Given the description of an element on the screen output the (x, y) to click on. 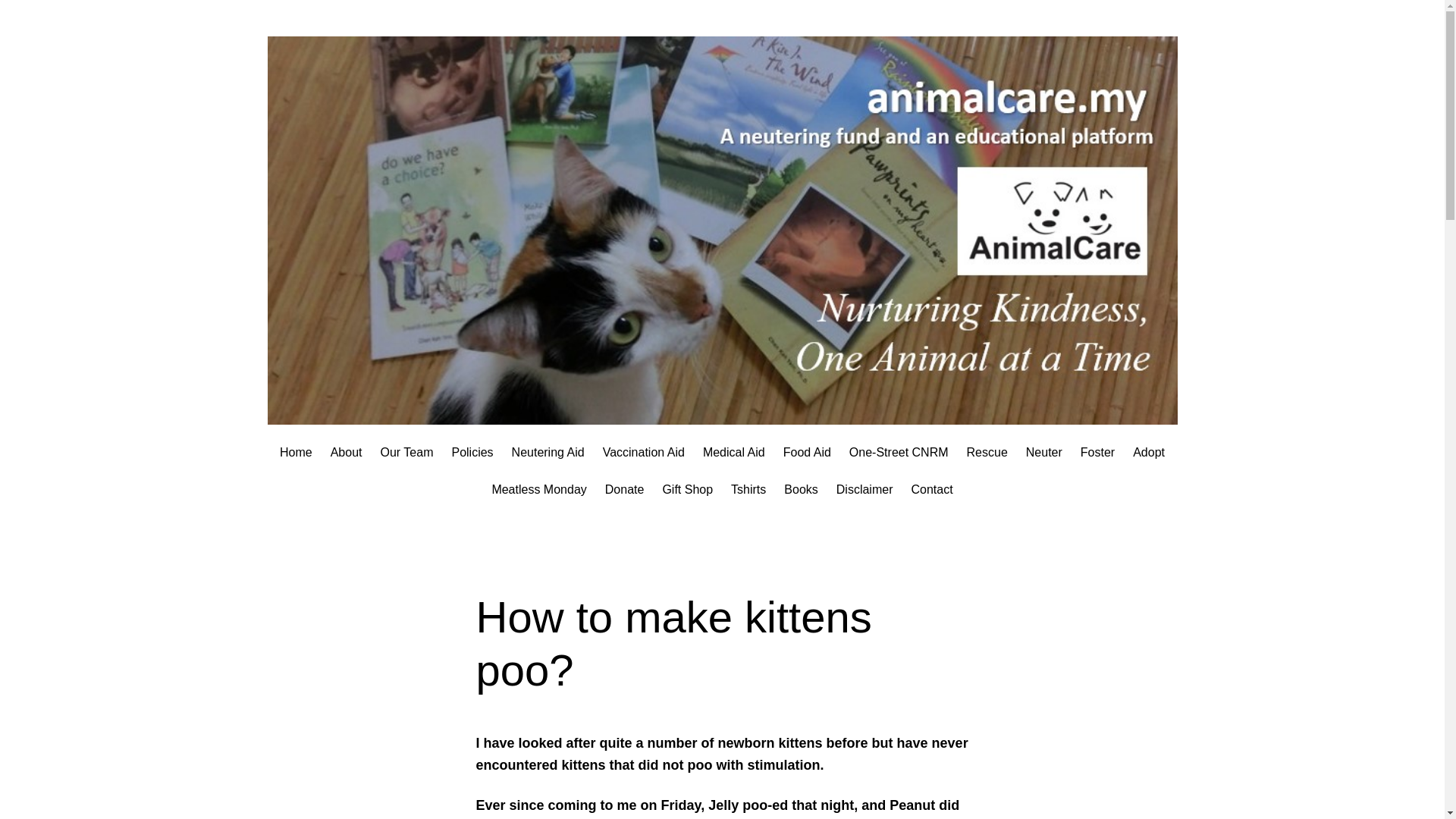
About (346, 452)
Medical Aid (734, 452)
Meatless Monday (539, 489)
Our Team (406, 452)
Donate (625, 489)
Tshirts (747, 489)
Gift Shop (687, 489)
Adopt (1148, 452)
Food Aid (807, 452)
Contact (931, 489)
